Given the description of an element on the screen output the (x, y) to click on. 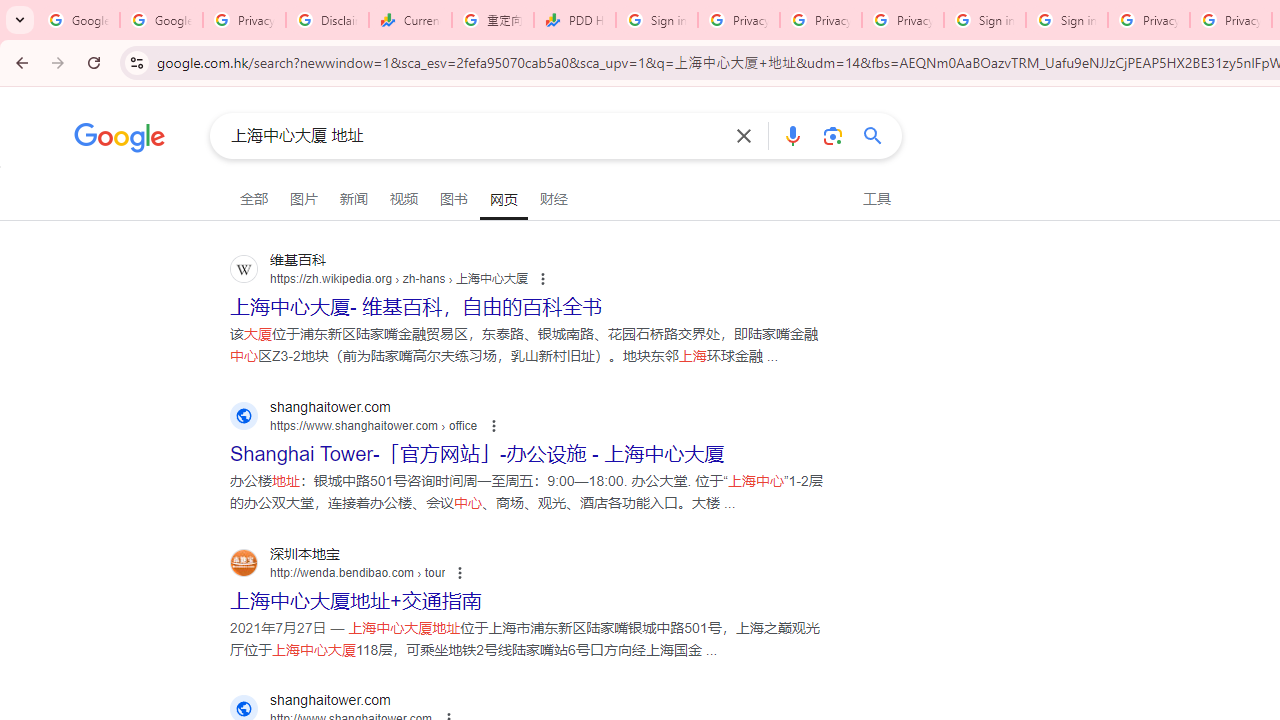
Sign in - Google Accounts (984, 20)
Sign in - Google Accounts (656, 20)
